Given the description of an element on the screen output the (x, y) to click on. 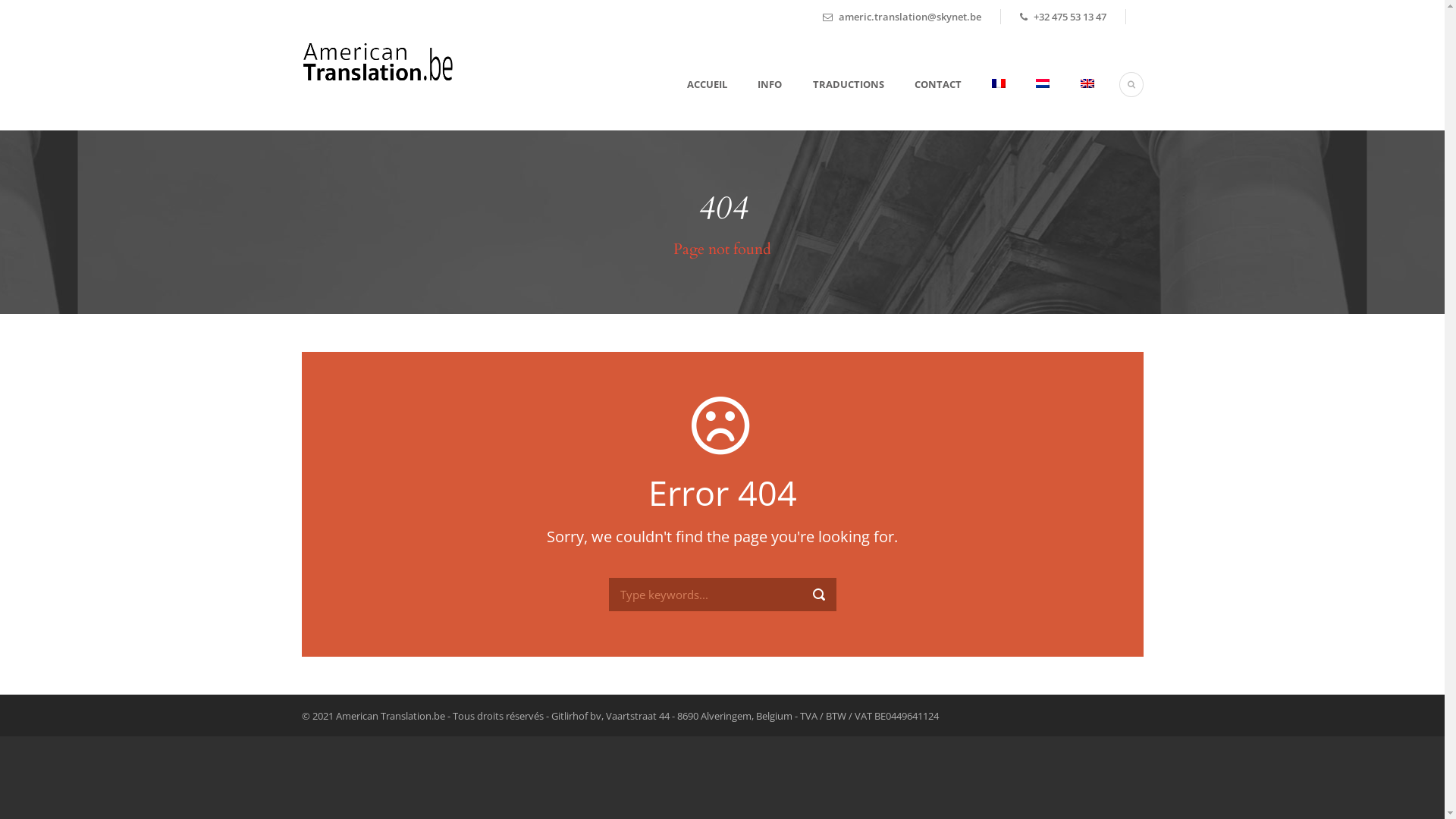
CONTACT Element type: text (922, 102)
INFO Element type: text (754, 102)
ACCUEIL Element type: text (702, 102)
TRADUCTIONS Element type: text (832, 102)
